Given the description of an element on the screen output the (x, y) to click on. 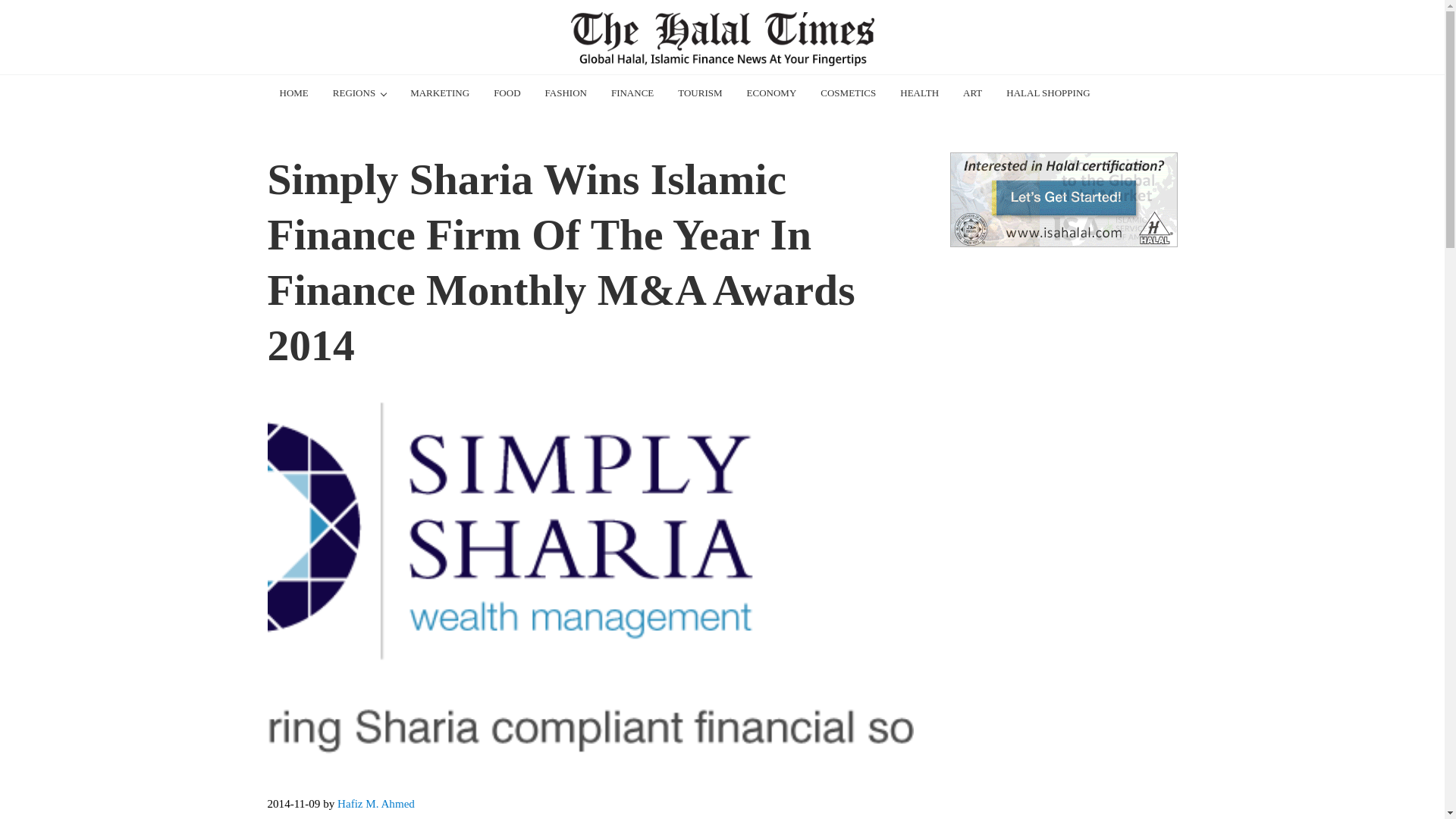
HEALTH (919, 93)
Hafiz M. Ahmed (375, 803)
REGIONS (358, 93)
ART (972, 93)
FOOD (506, 93)
HALAL SHOPPING (1048, 93)
FINANCE (631, 93)
HOME (293, 93)
COSMETICS (848, 93)
